Given the description of an element on the screen output the (x, y) to click on. 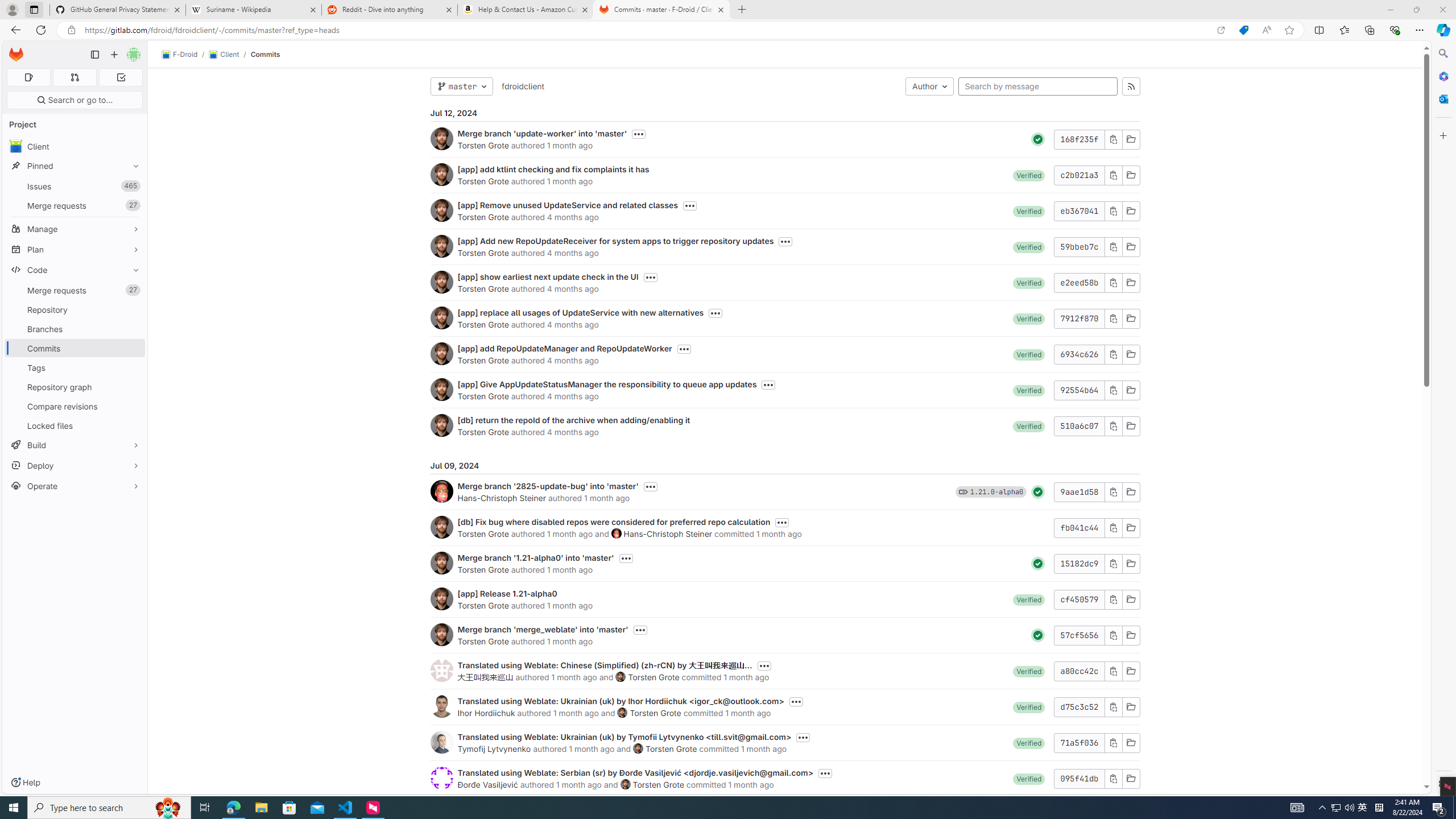
Operate (74, 485)
Client (74, 145)
Torsten Grote (657, 784)
Torsten Grote's avatar (625, 783)
App bar (728, 29)
Ihor Hordiichuk (486, 712)
Close Outlook pane (1442, 98)
Browse Files (1130, 778)
Unpin Issues (132, 186)
Code (74, 269)
Merge branch '1.21-alpha0' into 'master' (535, 557)
Ihor Hordiichuk's avatar (440, 706)
